Given the description of an element on the screen output the (x, y) to click on. 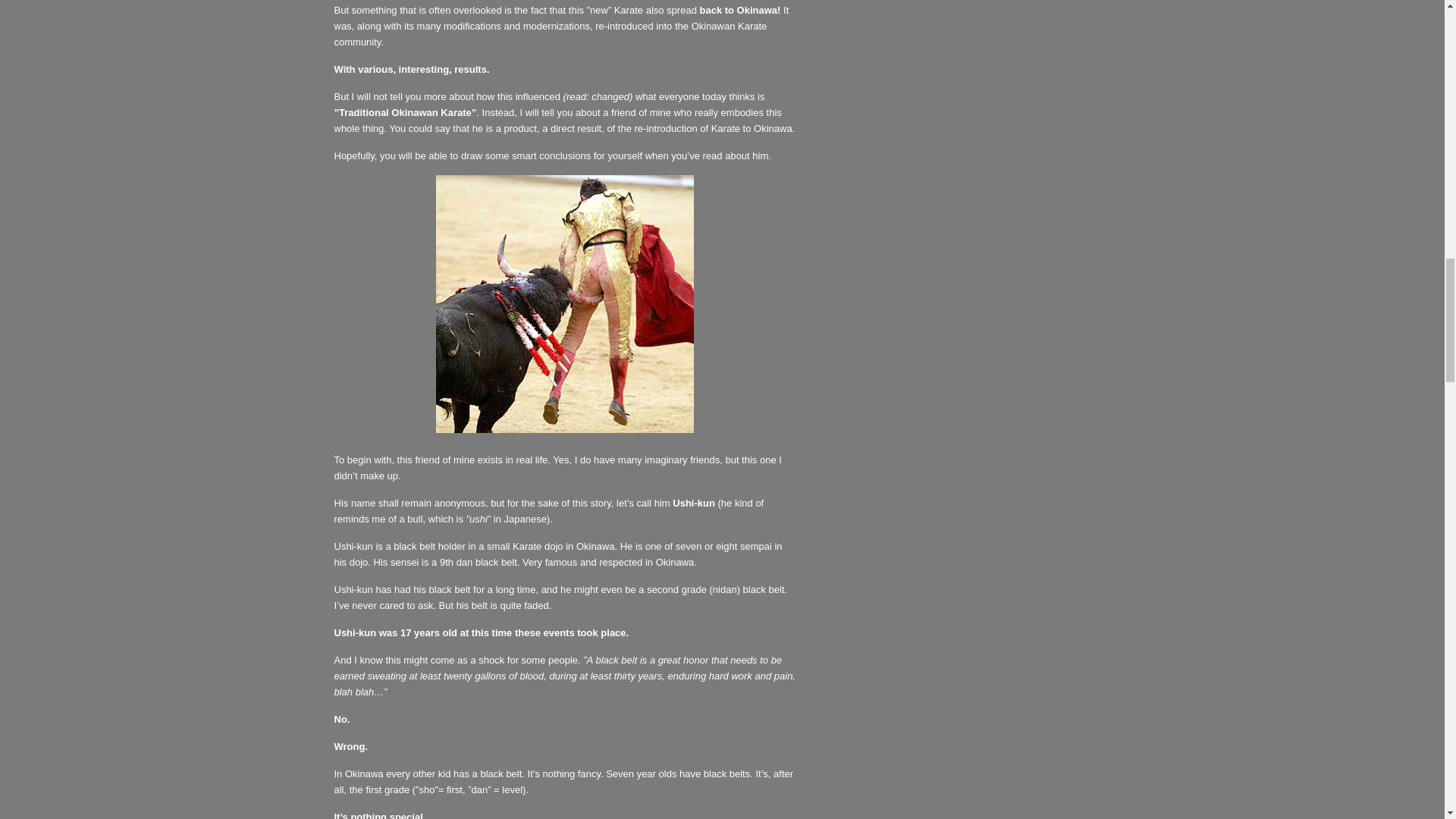
Okinawan Karate003 (564, 304)
